Given the description of an element on the screen output the (x, y) to click on. 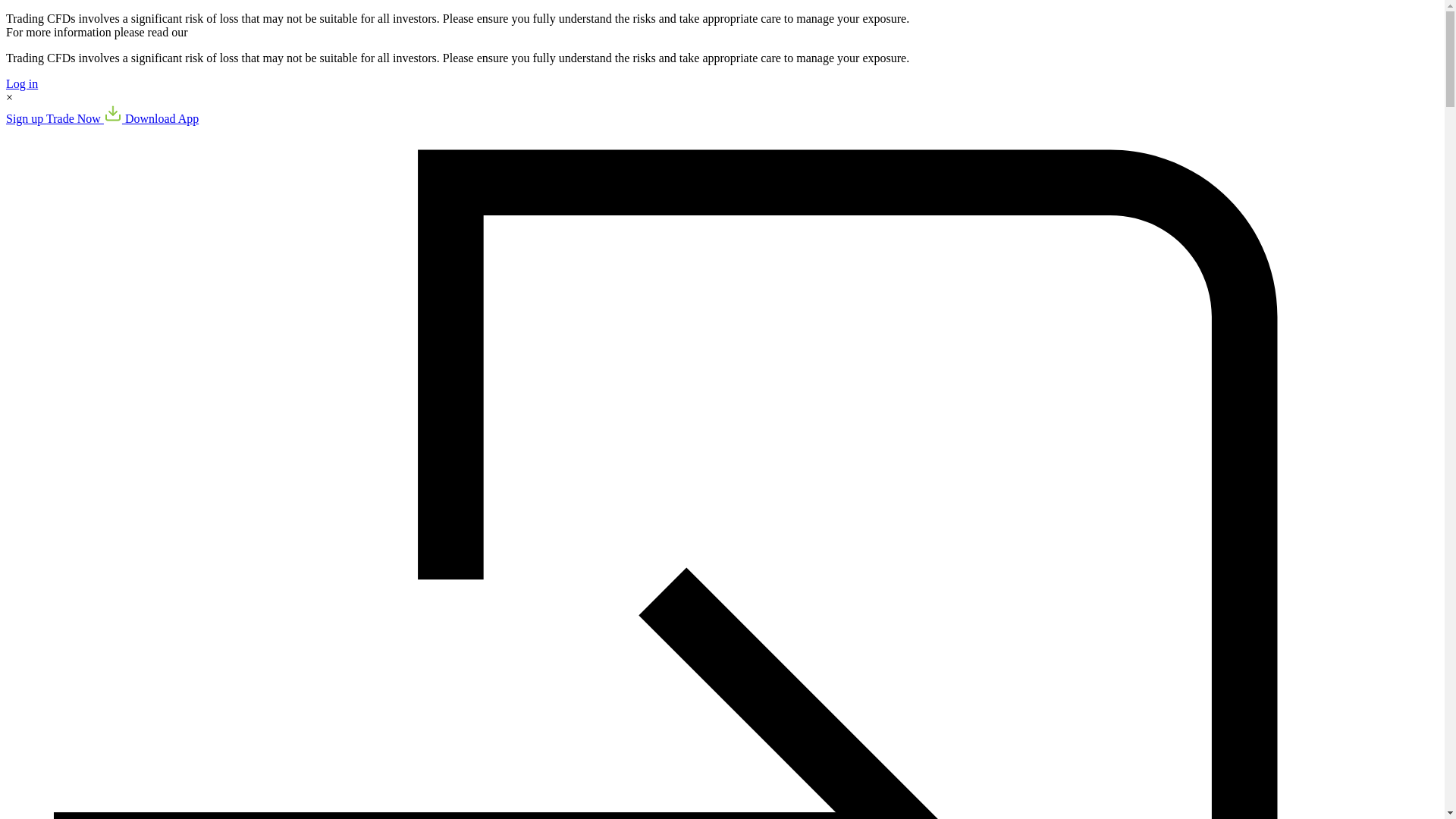
Sign up (25, 118)
Log in (21, 83)
Trade Now (74, 118)
Risk Disclosure (228, 31)
